Given the description of an element on the screen output the (x, y) to click on. 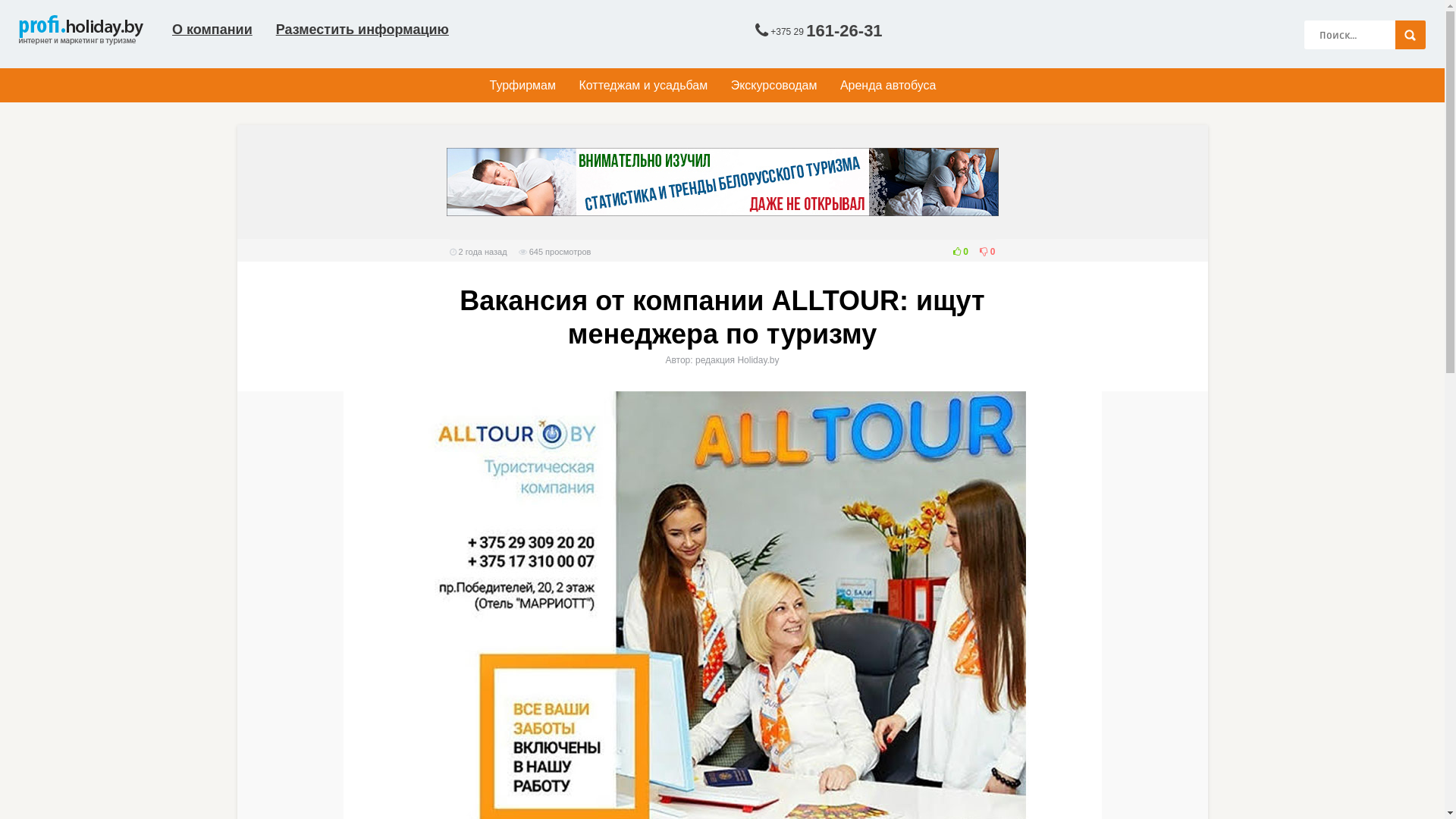
0 Element type: text (983, 251)
Search Element type: text (1410, 34)
0 Element type: text (956, 251)
